Given the description of an element on the screen output the (x, y) to click on. 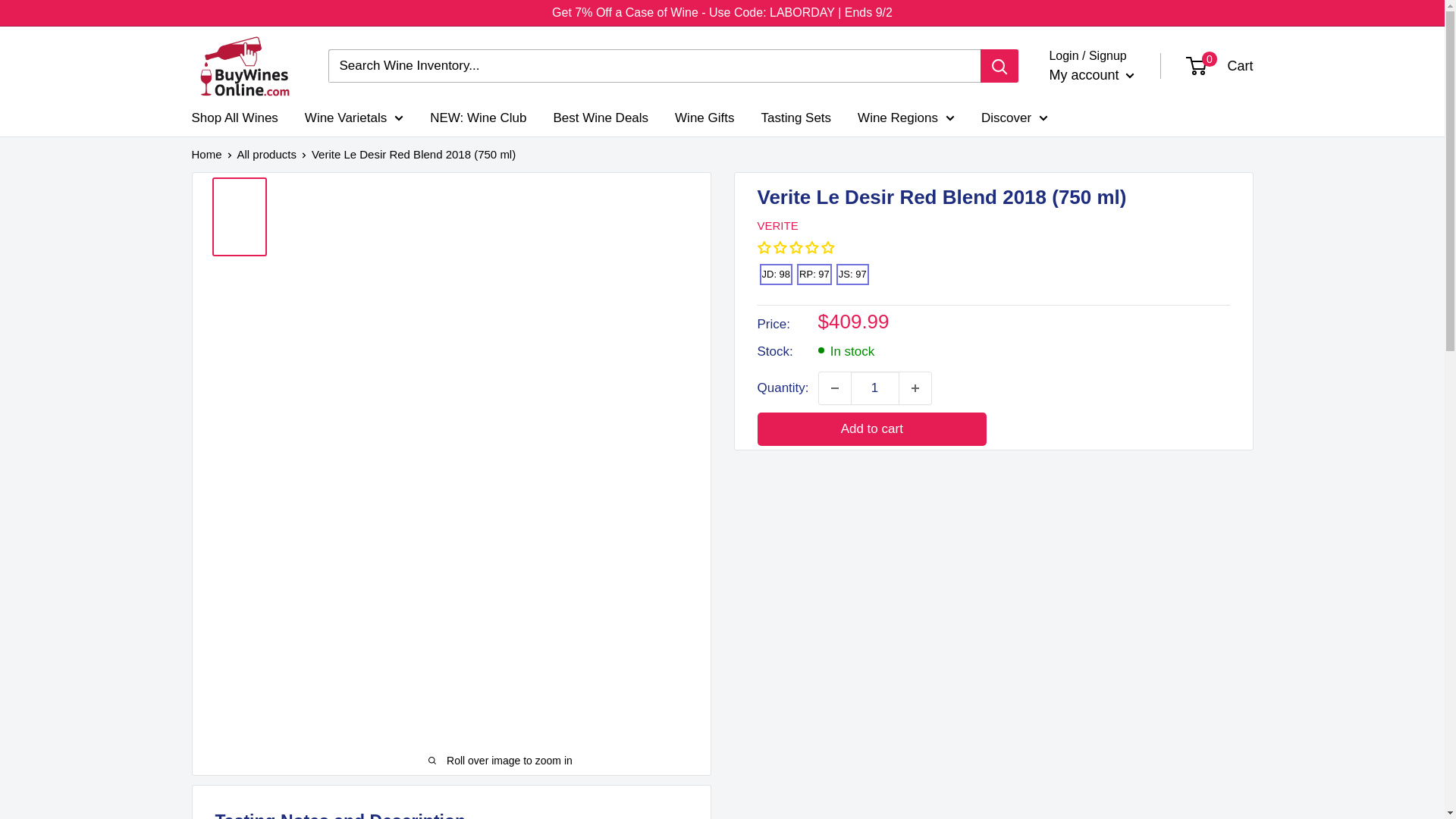
1 (874, 388)
Increase quantity by 1 (915, 388)
Decrease quantity by 1 (834, 388)
